Given the description of an element on the screen output the (x, y) to click on. 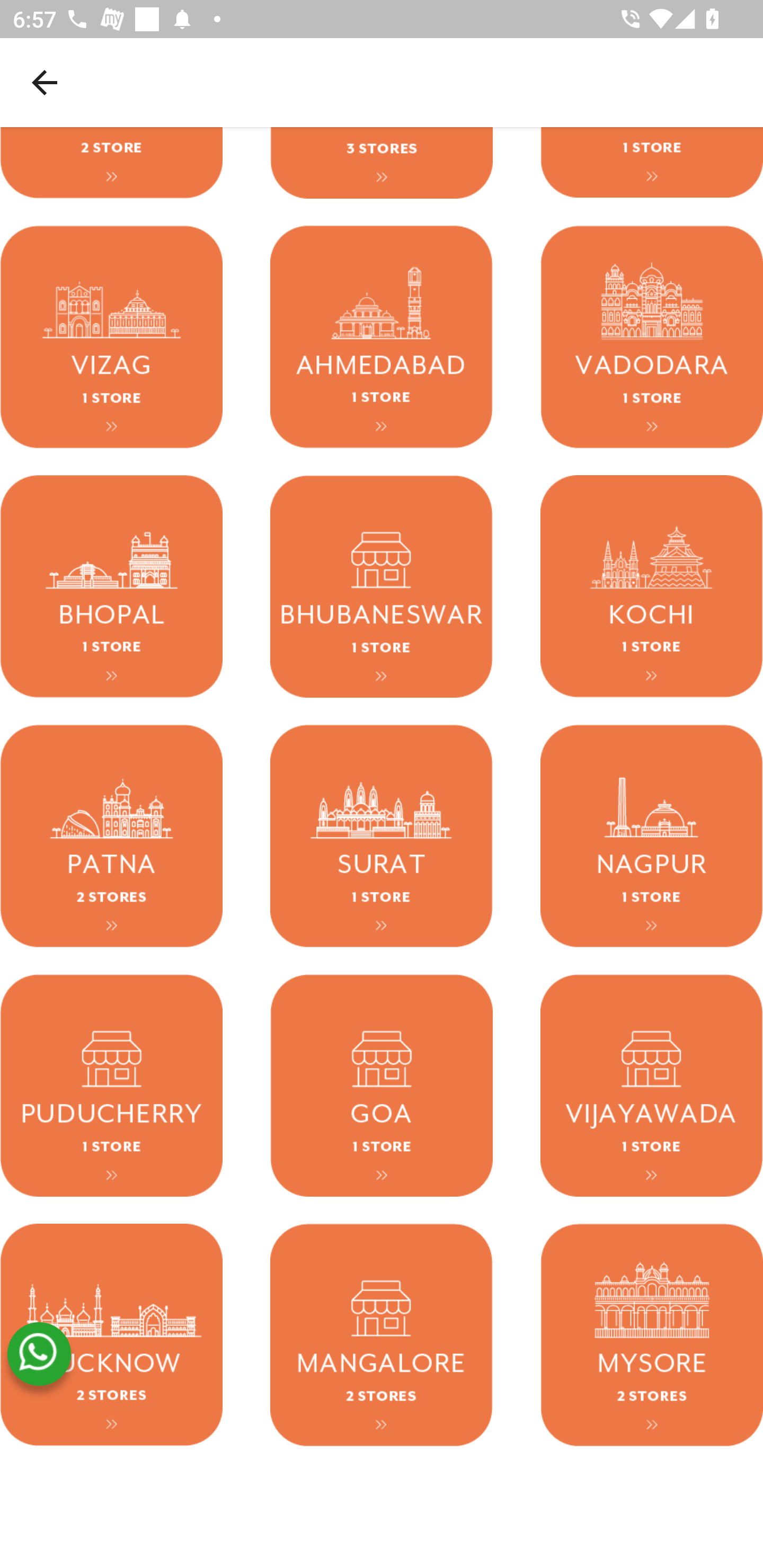
Navigate up (44, 82)
Vizag (111, 337)
vadodara (651, 337)
Bhopal (111, 587)
Bhubneshwar (381, 587)
Patna (111, 836)
Puducherry (111, 1085)
Goa (381, 1085)
Vijayawada (651, 1085)
mangalore-store (381, 1335)
whatsapp (38, 1354)
